Given the description of an element on the screen output the (x, y) to click on. 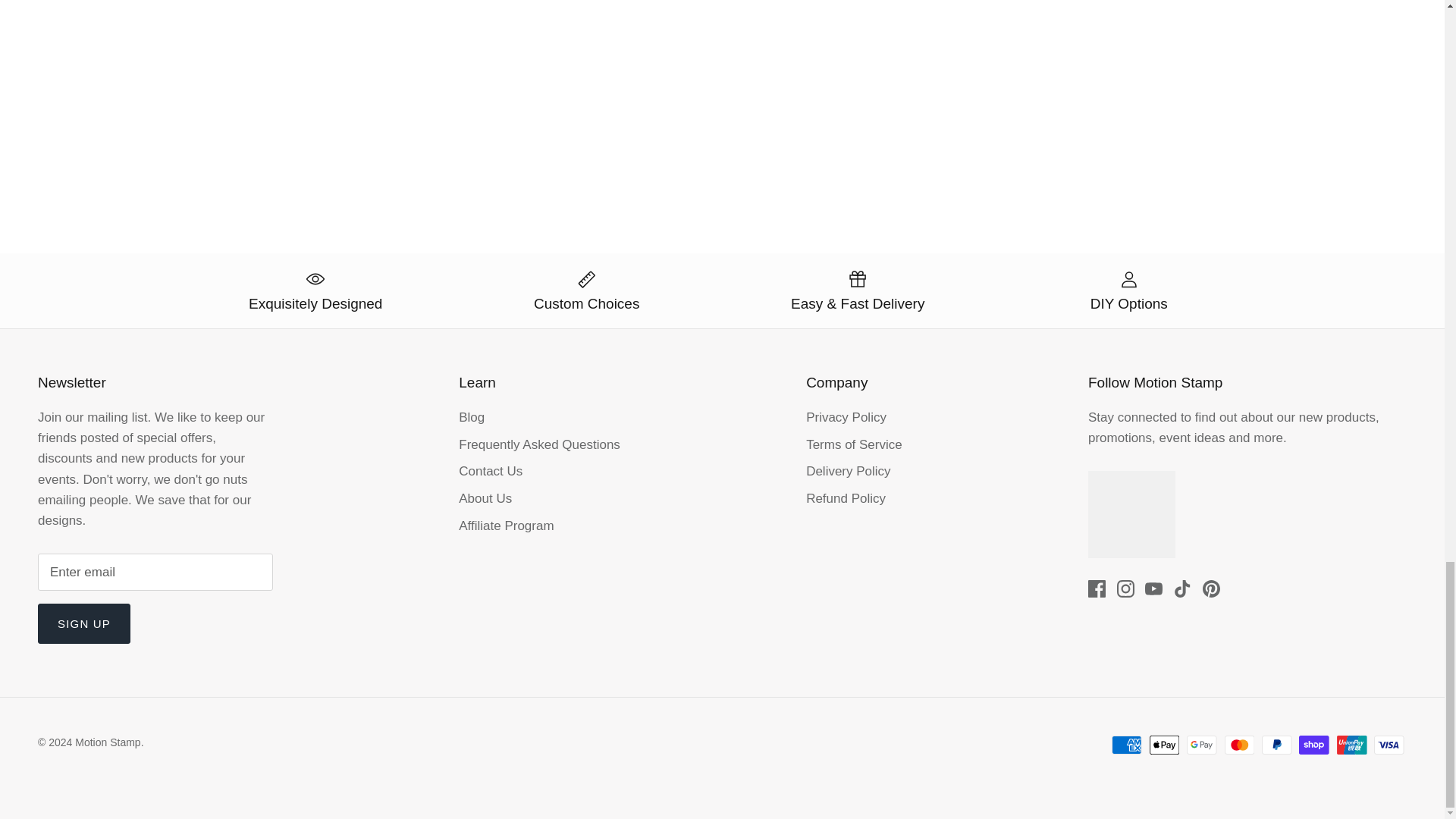
Youtube (1152, 588)
Facebook (1096, 588)
Instagram (1125, 588)
